Given the description of an element on the screen output the (x, y) to click on. 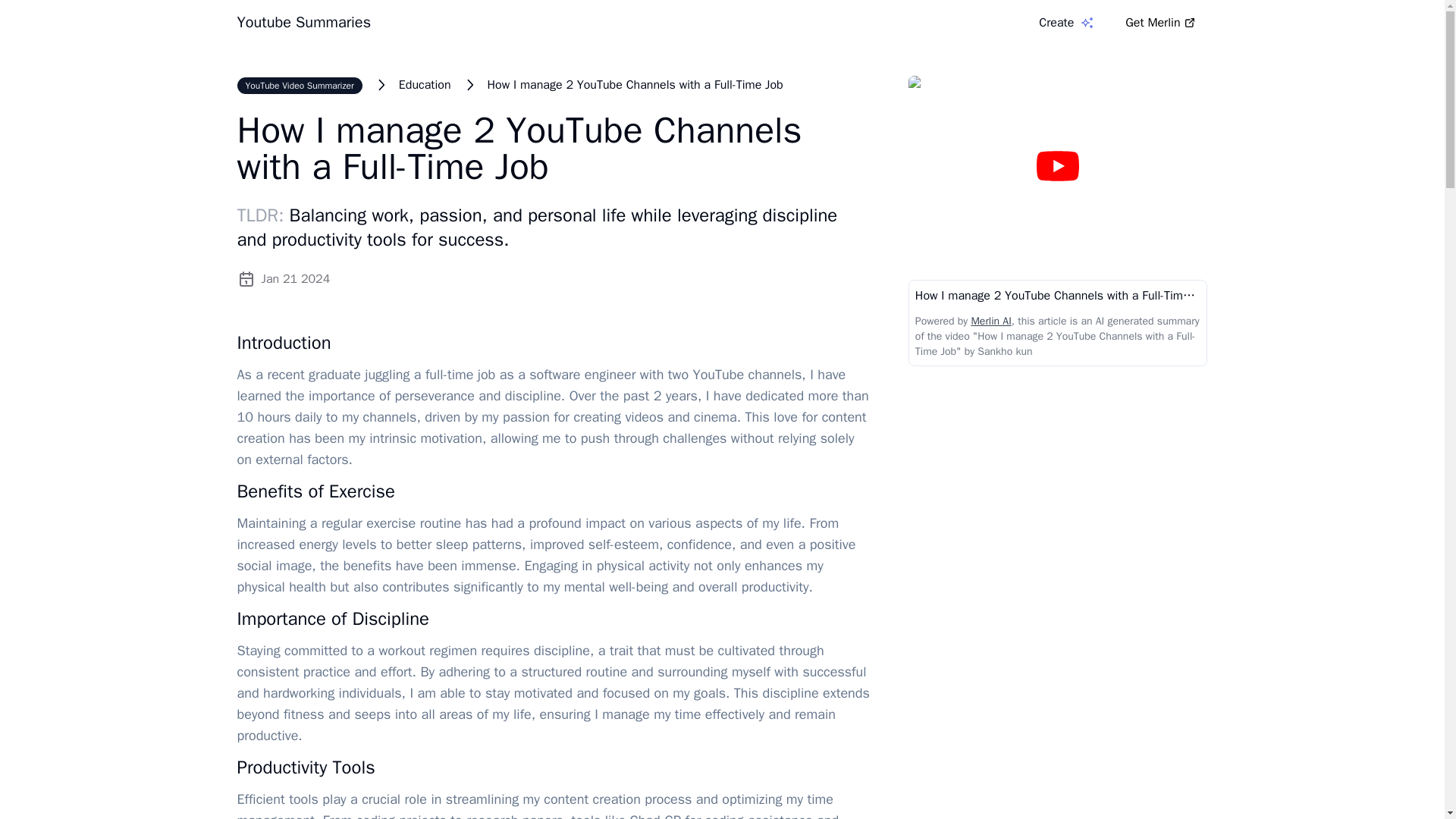
Get Merlin (1160, 22)
Merlin AI (990, 320)
YouTube Video Summarizer (298, 85)
Education (424, 85)
Create (1066, 22)
Youtube Summaries (303, 22)
